Given the description of an element on the screen output the (x, y) to click on. 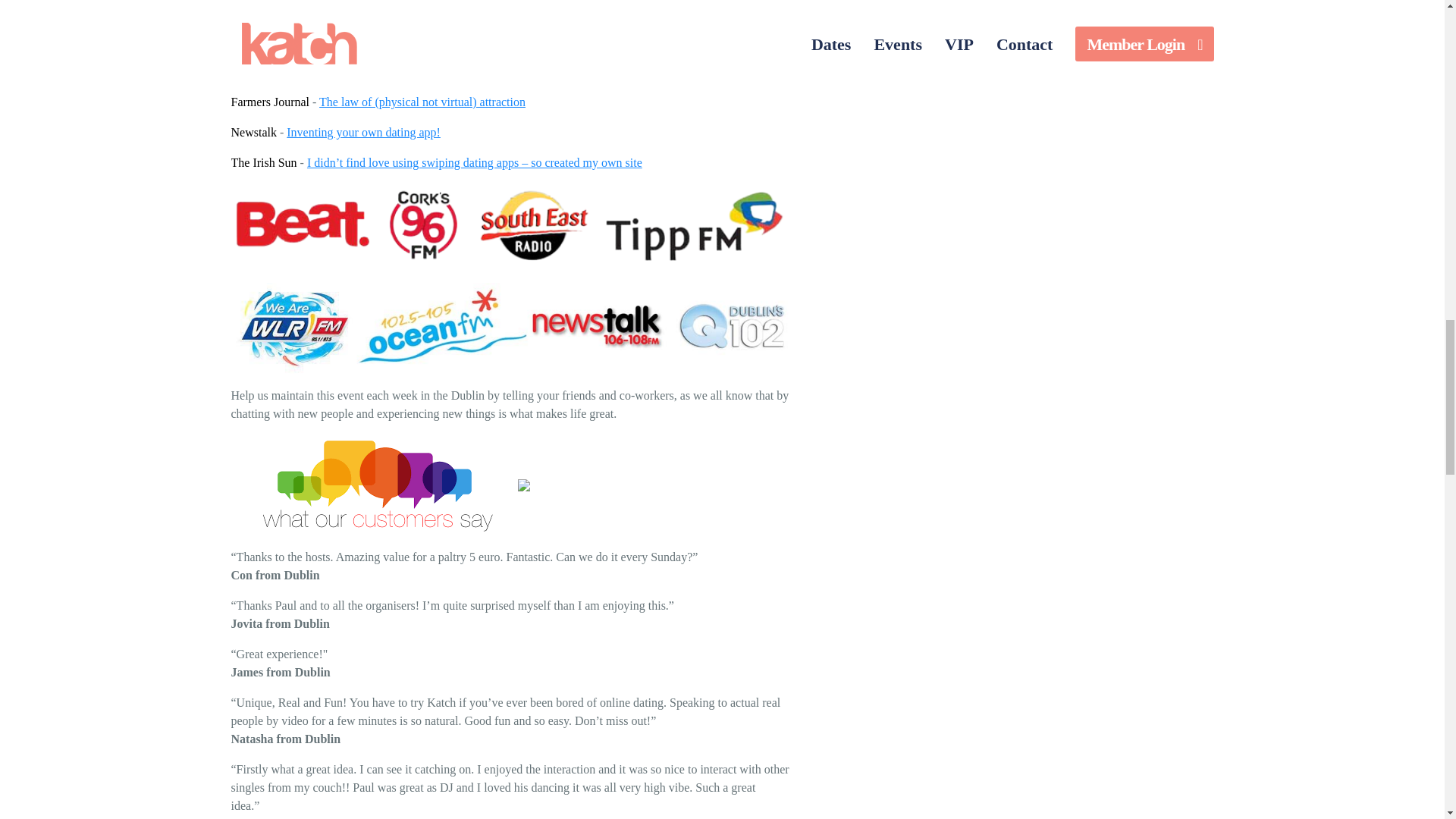
Inventing your own dating app! (363, 132)
